Given the description of an element on the screen output the (x, y) to click on. 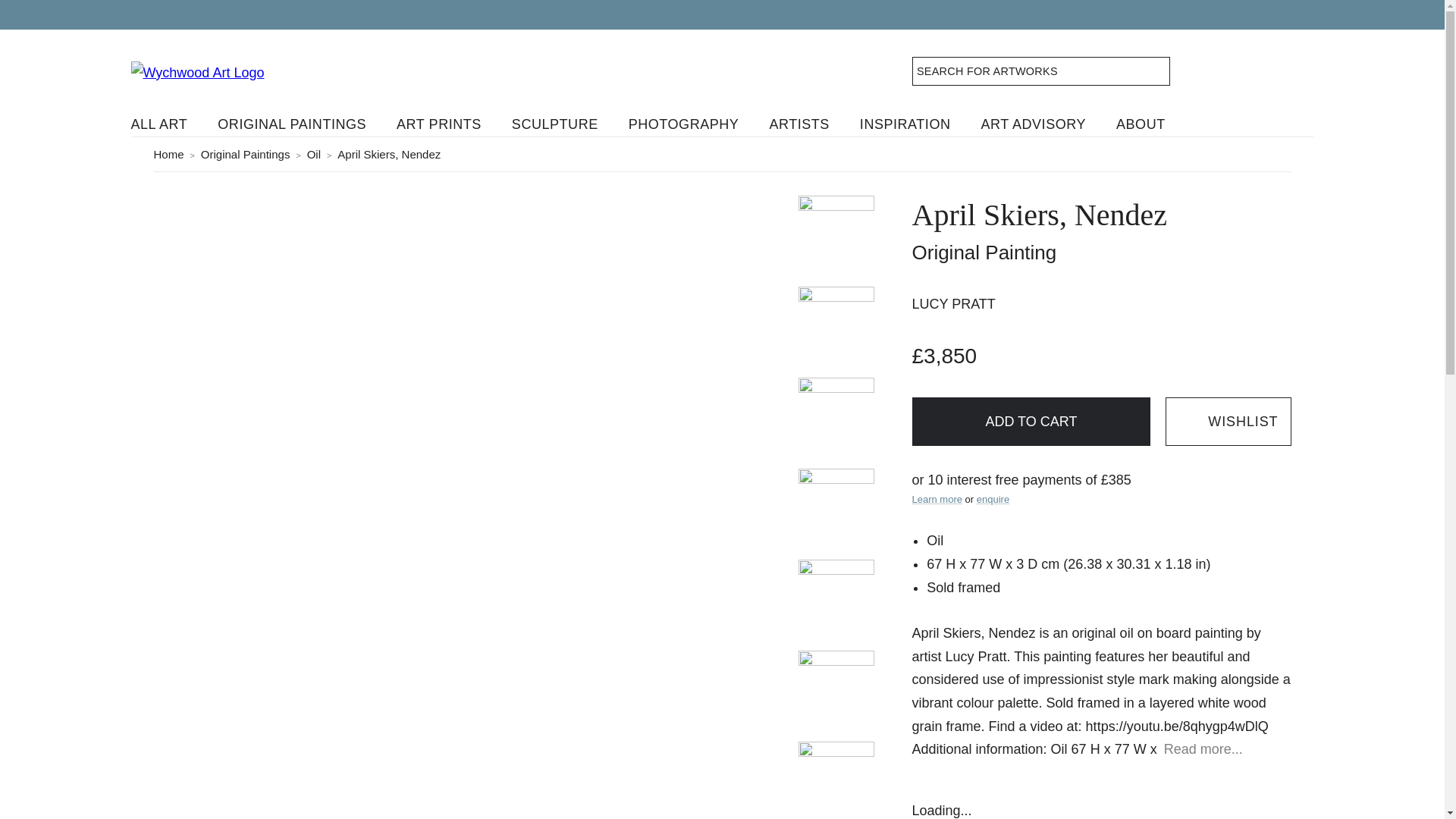
Add to wishlist (1228, 421)
